Given the description of an element on the screen output the (x, y) to click on. 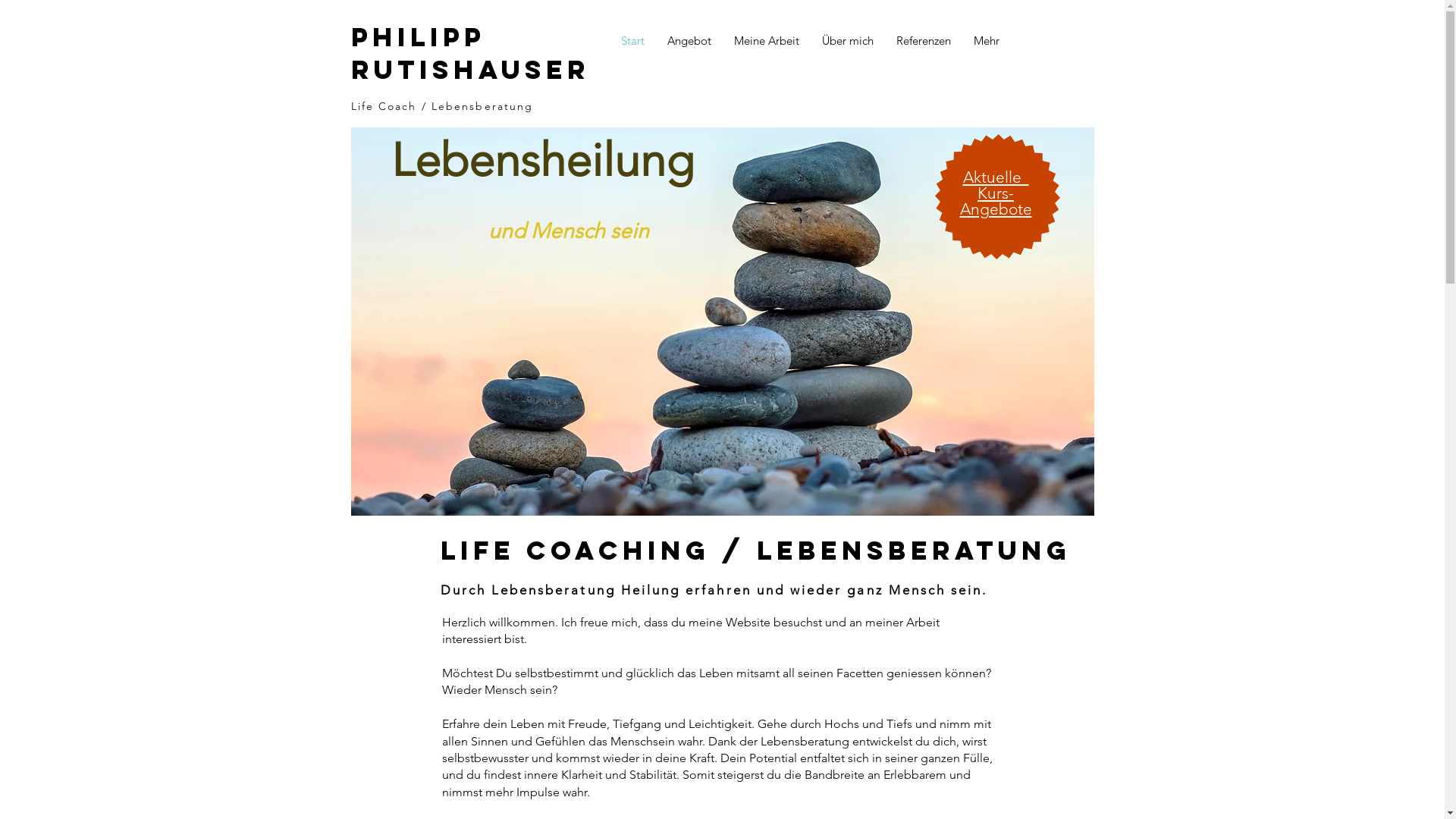
Life Coach / Lebensberatung Element type: text (441, 105)
Start Element type: text (632, 40)
Aktuelle   Kurs-Angebote Element type: text (996, 192)
Referenzen Element type: text (922, 40)
Angebot Element type: text (688, 40)
Meine Arbeit Element type: text (765, 40)
Philipp Rutishauser Element type: text (469, 52)
